Given the description of an element on the screen output the (x, y) to click on. 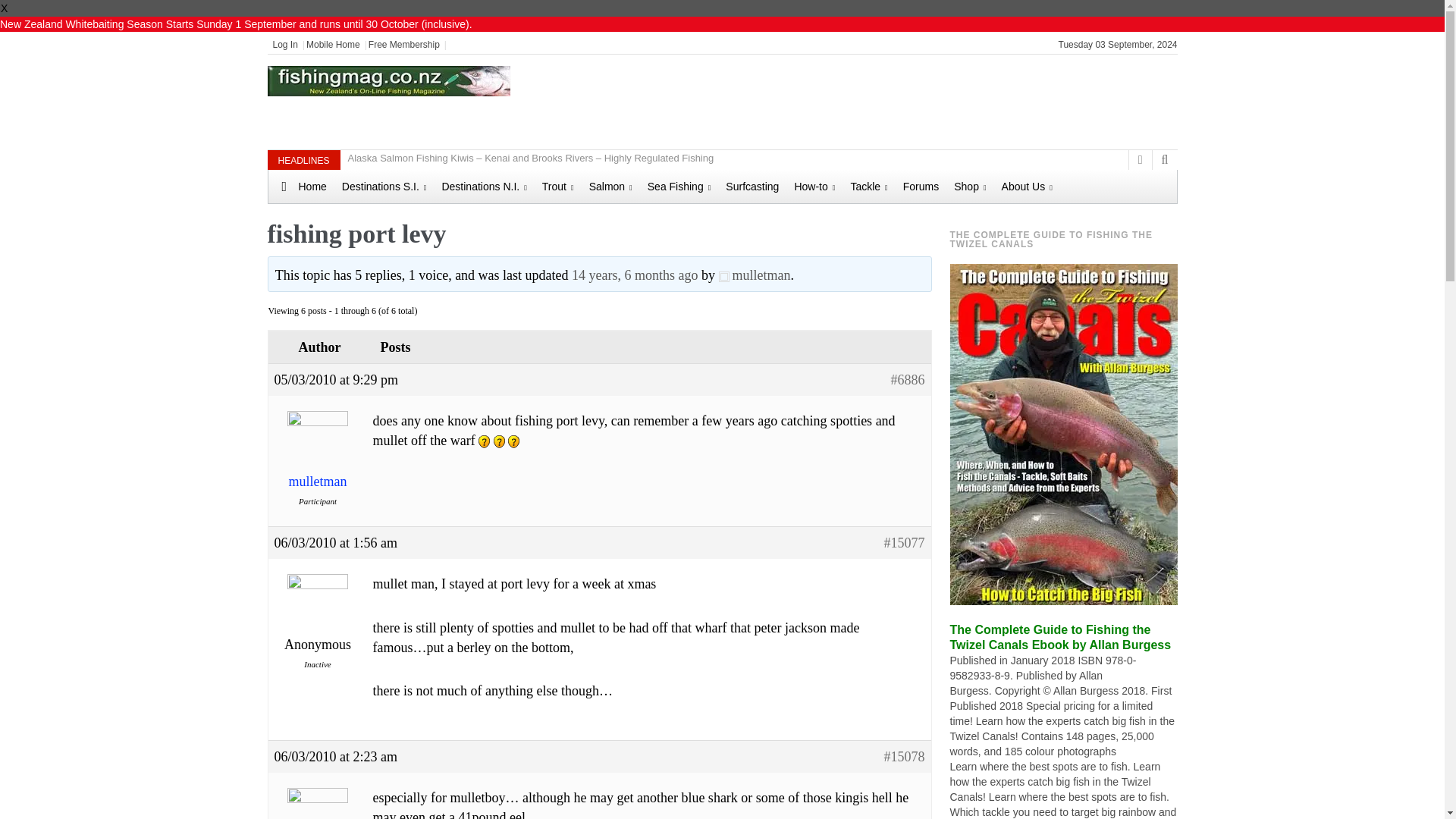
Log In (285, 44)
View yellowfin's profile (318, 811)
fishing port levy (634, 274)
View mulletman's profile (318, 459)
Free Membership (403, 44)
View mulletman's profile (754, 274)
Advertisement (908, 100)
Mobile Home (332, 44)
